Given the description of an element on the screen output the (x, y) to click on. 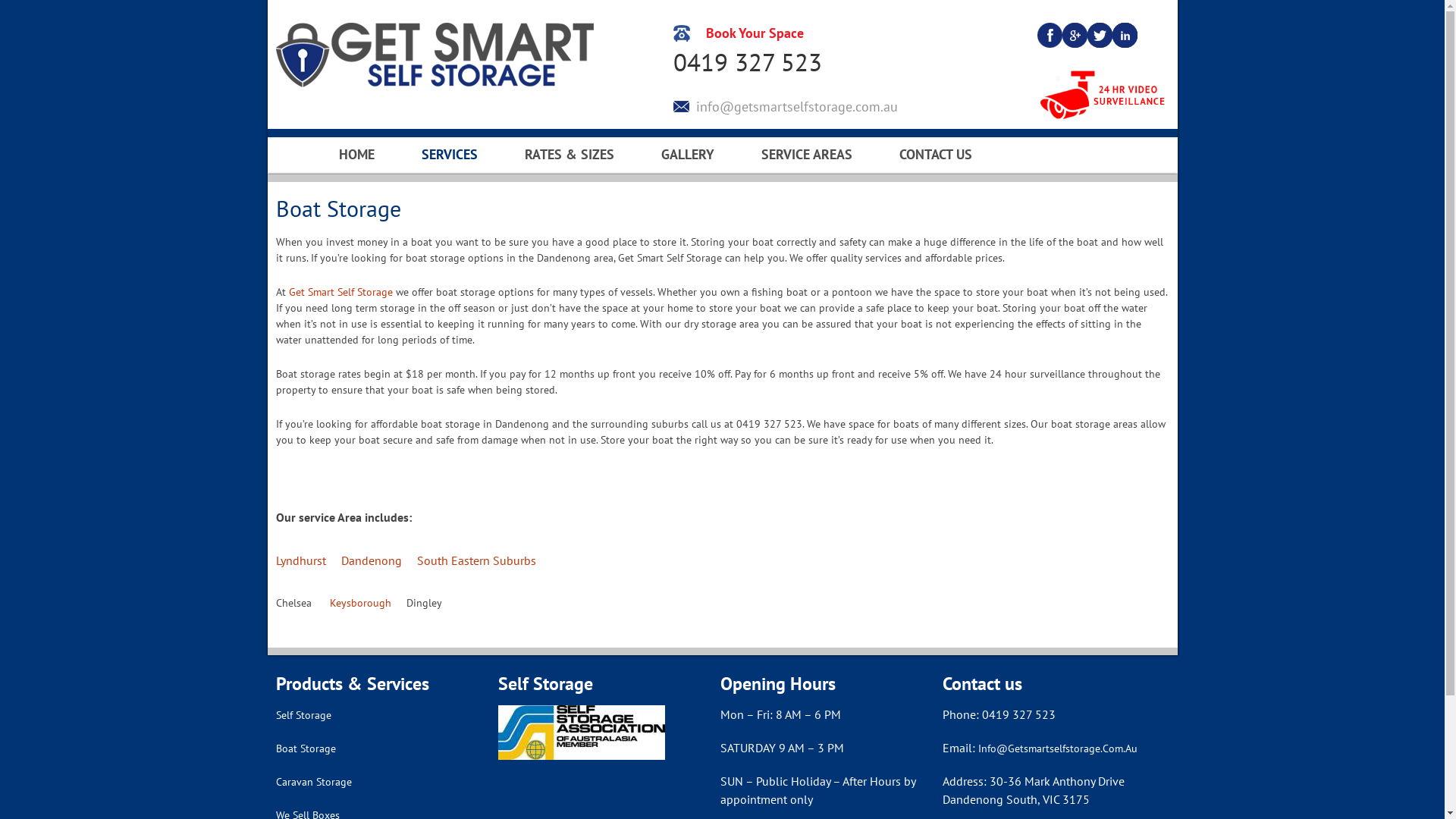
CALCULATOR Element type: text (600, 174)
South Eastern Suburbs Element type: text (476, 559)
Skip to content Element type: text (338, 147)
facebook Element type: hover (1049, 34)
CONTACT US Element type: text (935, 154)
Get Smart Self Storage Element type: hover (436, 54)
Boat Storage Element type: text (305, 748)
0419 327 523 Element type: text (789, 62)
SELF STORAGE Element type: text (497, 174)
GALLERY Element type: text (687, 154)
SERVICES Element type: text (449, 154)
google pluse Element type: hover (1074, 33)
Keysborough Element type: text (359, 602)
Info@Getsmartselfstorage.Com.Au Element type: text (1057, 748)
twiter Element type: hover (1099, 34)
KEYSBOROUGH Element type: text (837, 174)
Lyndhurst Element type: text (301, 559)
SERVICE AREAS Element type: text (806, 154)
Self Storage Element type: text (303, 714)
twiter Element type: hover (1099, 33)
HOME Element type: text (356, 154)
info@getsmartselfstorage.com.au Element type: text (789, 105)
linkedin Element type: hover (1124, 34)
Caravan Storage Element type: text (313, 781)
facebook Element type: hover (1049, 33)
Dandenong Element type: text (371, 559)
RATES & SIZES Element type: text (569, 154)
google pluse Element type: hover (1074, 34)
linkedin Element type: hover (1124, 33)
Get Smart Self Storage Element type: text (340, 291)
